Given the description of an element on the screen output the (x, y) to click on. 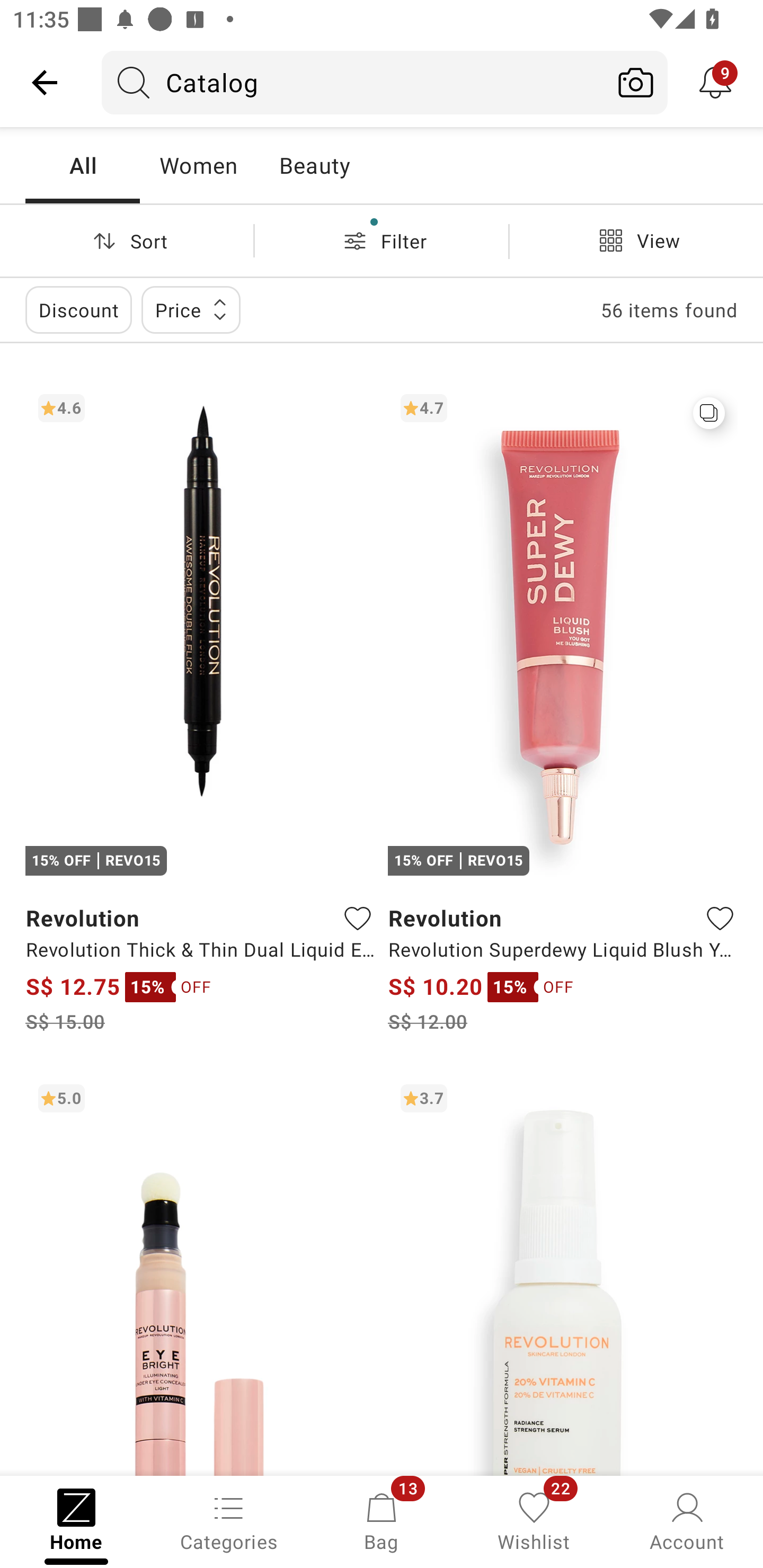
Navigate up (44, 82)
Catalog (352, 82)
Women (198, 165)
Beauty (314, 165)
Sort (126, 240)
Filter (381, 240)
View (636, 240)
Discount (78, 309)
Price (190, 309)
5.0 (200, 1272)
3.7 (562, 1272)
Categories (228, 1519)
Bag, 13 new notifications Bag (381, 1519)
Wishlist, 22 new notifications Wishlist (533, 1519)
Account (686, 1519)
